Given the description of an element on the screen output the (x, y) to click on. 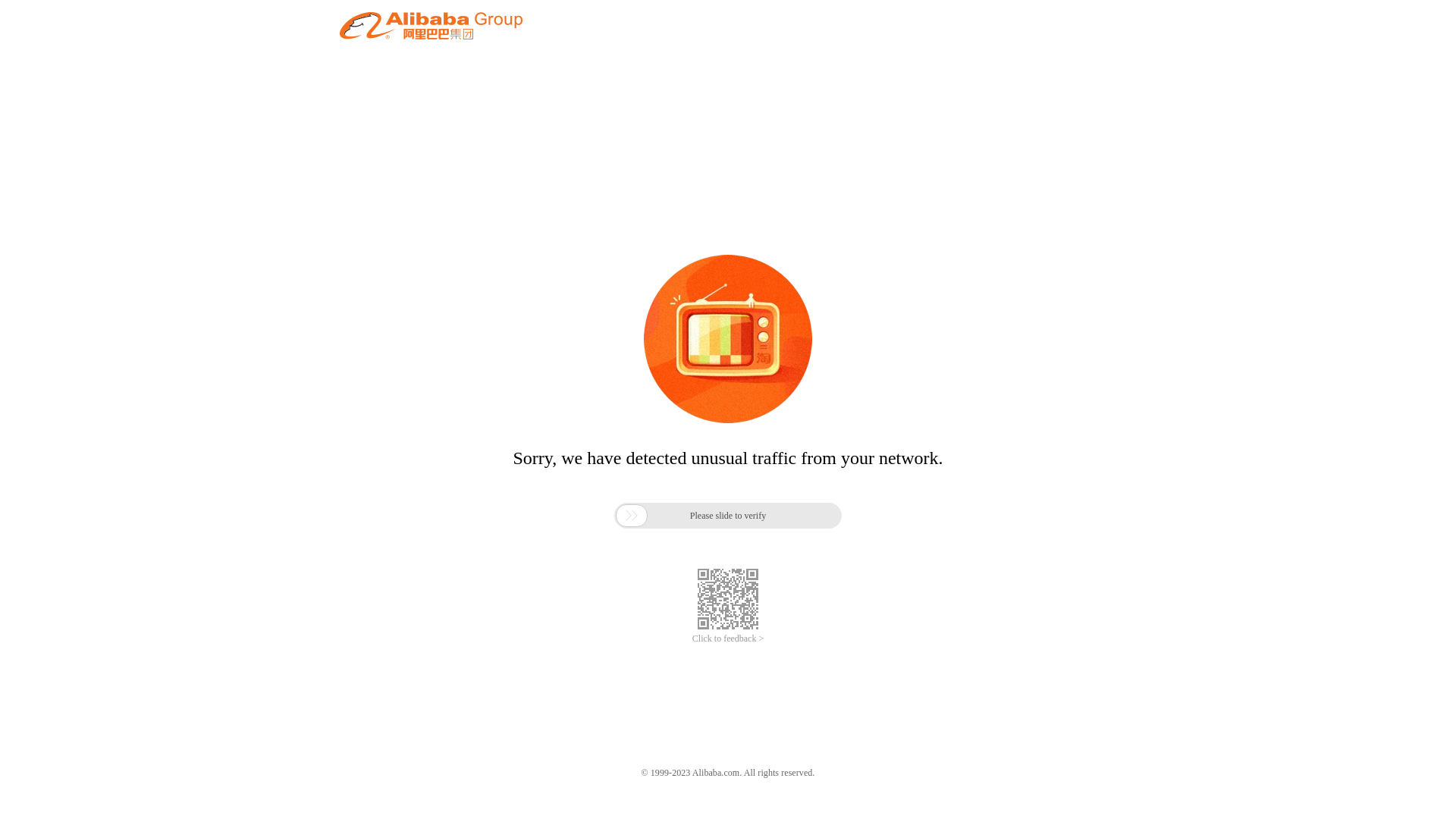
Click to feedback > Element type: text (727, 638)
